Given the description of an element on the screen output the (x, y) to click on. 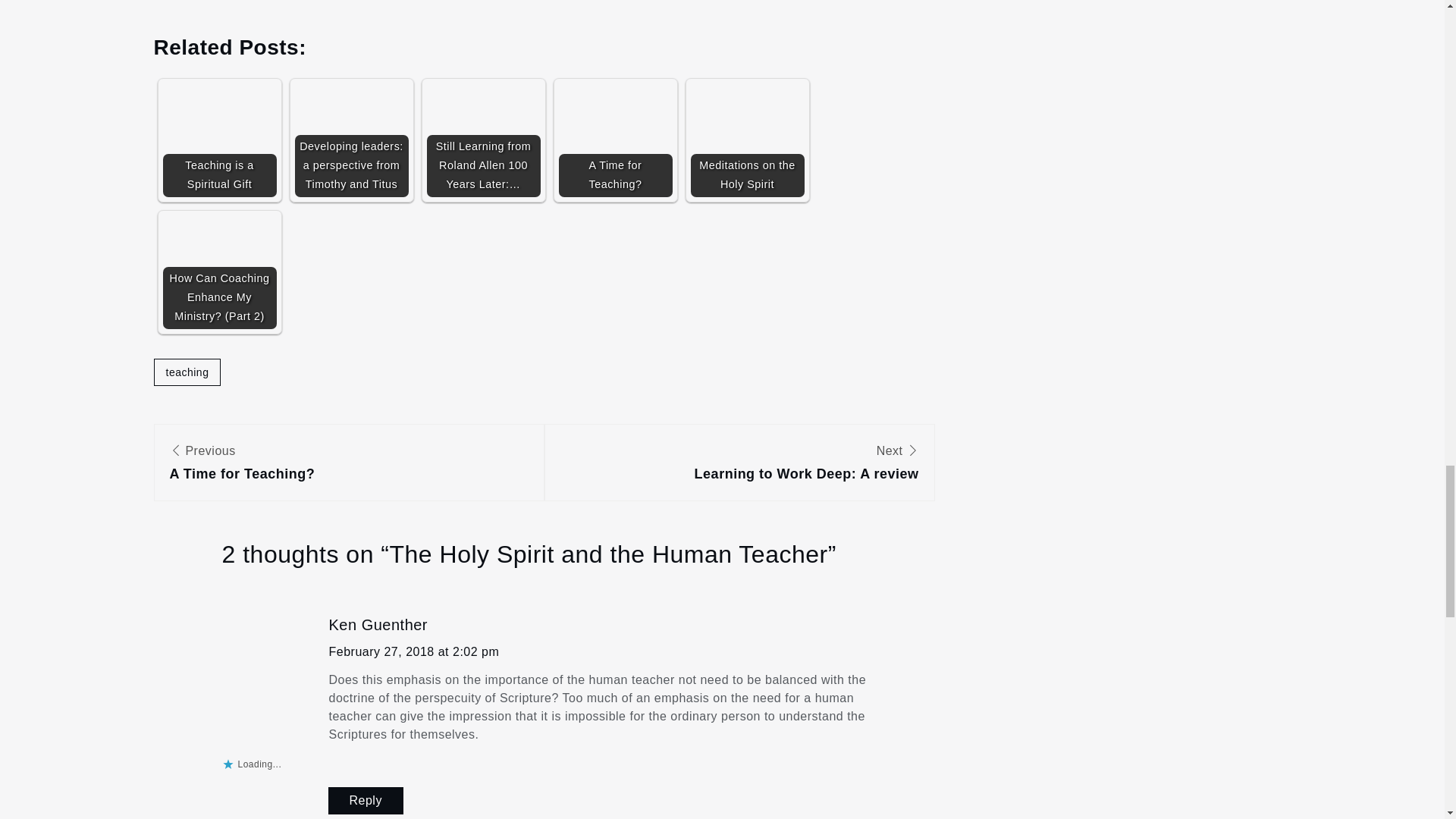
Reply (738, 464)
Developing leaders: a perspective from Timothy and Titus (349, 464)
teaching (365, 800)
Ken Guenther (350, 140)
A Time for Teaching? (186, 371)
February 27, 2018 at 2:02 pm (378, 624)
Meditations on the Holy Spirit (614, 140)
Teaching is a Spiritual Gift (414, 651)
Developing leaders: a perspective from Timothy and Titus (746, 140)
Meditations on the Holy Spirit (218, 140)
Teaching is a Spiritual Gift (350, 140)
A Time for Teaching? (746, 140)
